Given the description of an element on the screen output the (x, y) to click on. 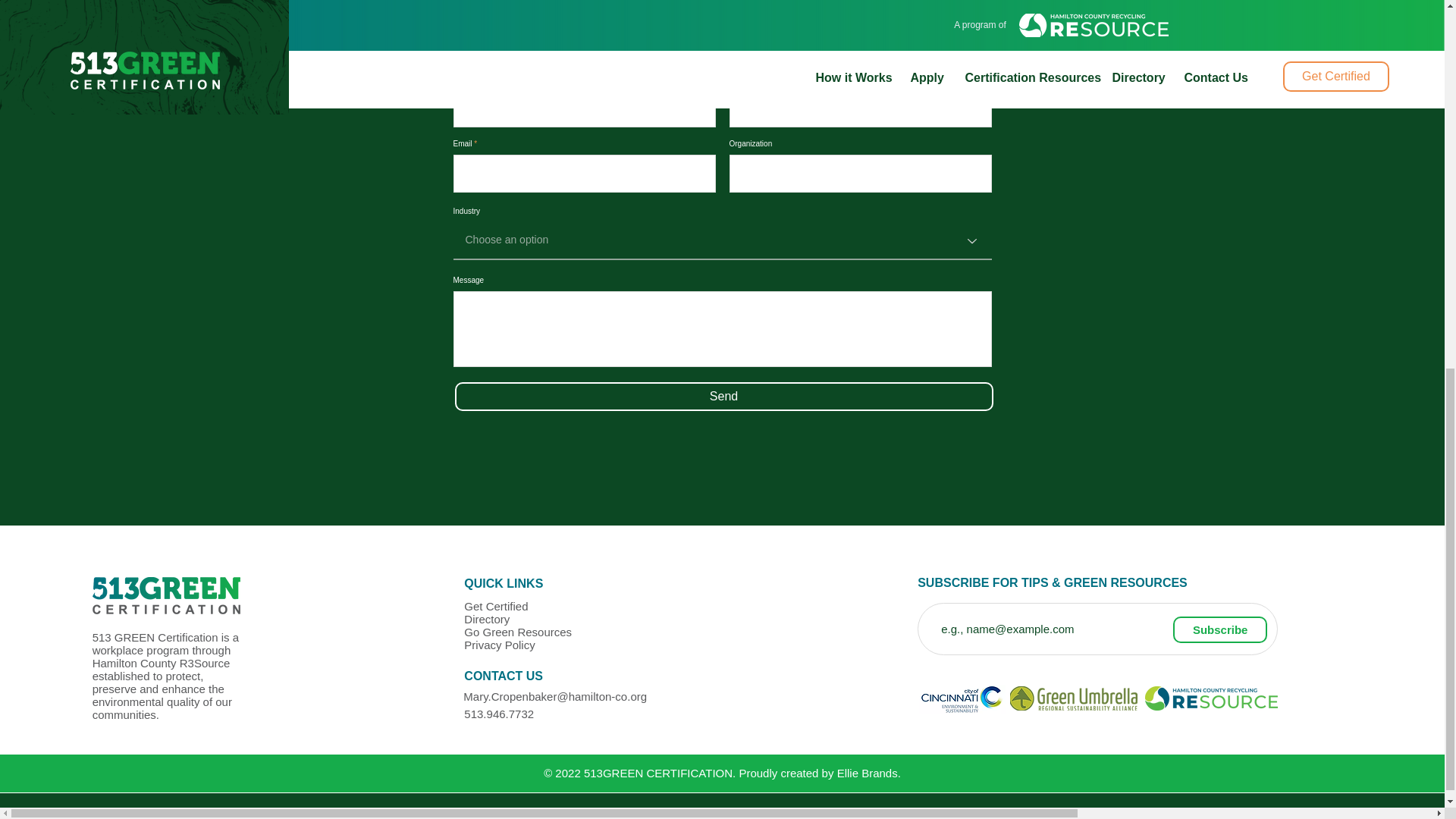
Ellie Brands (867, 772)
Send (723, 396)
Go Green Resources (518, 631)
Get Certified (495, 605)
Subscribe (1219, 629)
Directory (486, 618)
